Given the description of an element on the screen output the (x, y) to click on. 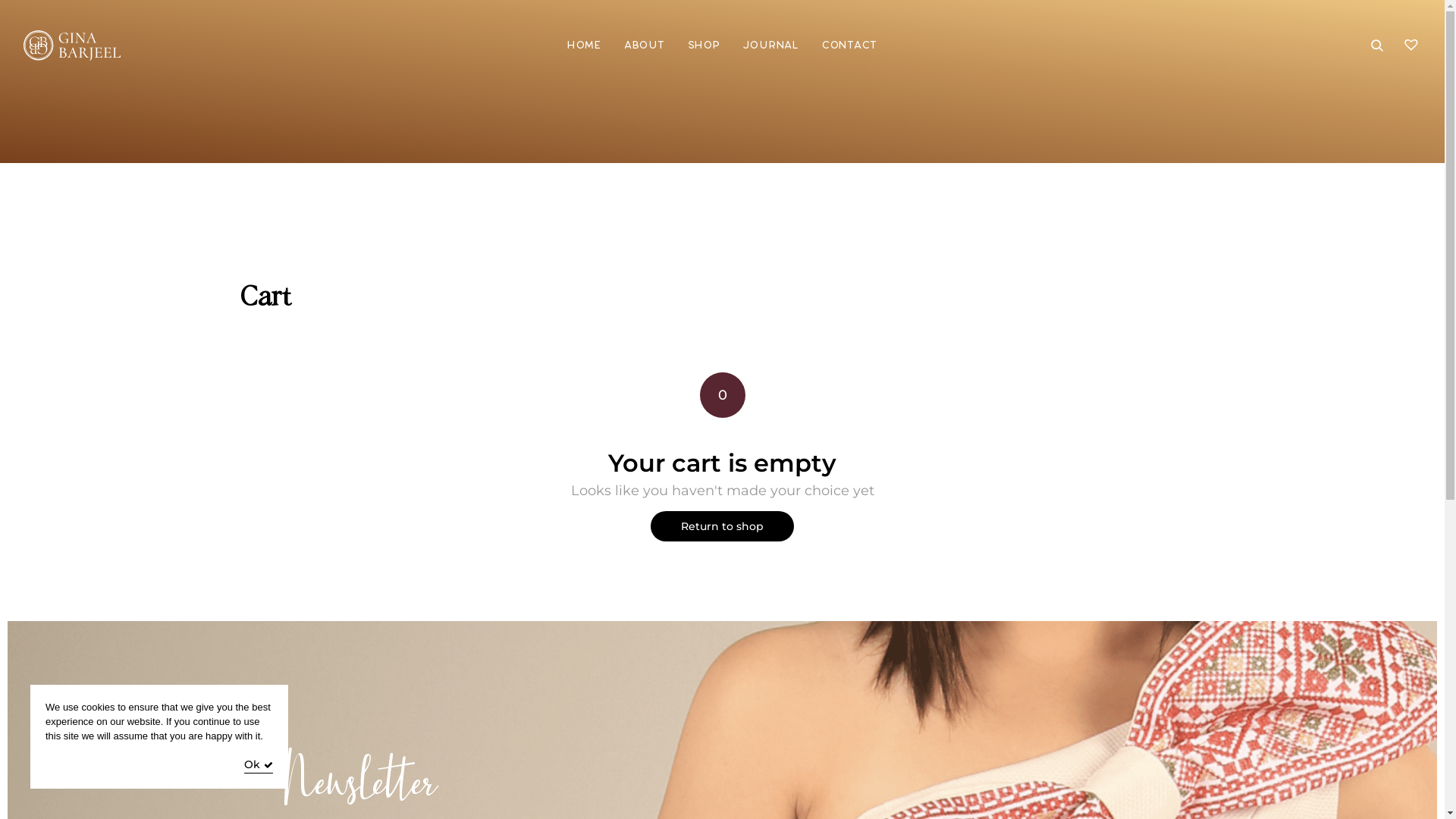
Contact Element type: text (849, 45)
Home Element type: text (584, 45)
Journal Element type: text (771, 45)
Search Element type: text (49, 15)
Shop Element type: text (703, 45)
Return to shop Element type: text (721, 526)
Ok Element type: text (258, 765)
About Element type: text (644, 45)
